Given the description of an element on the screen output the (x, y) to click on. 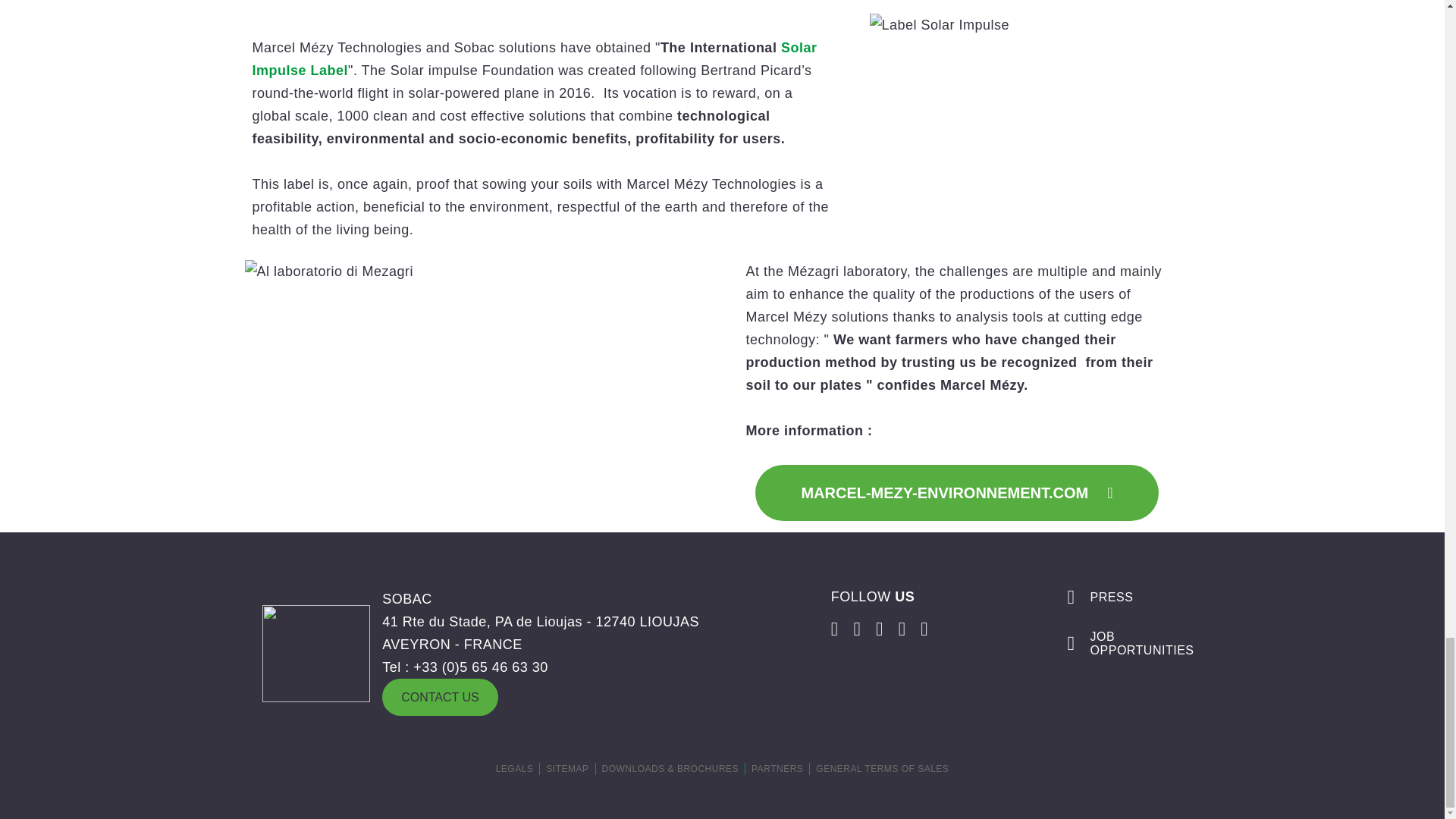
Al laboratorio di Mezagri (328, 271)
Home (315, 653)
Label Solar Impulse (939, 24)
